Given the description of an element on the screen output the (x, y) to click on. 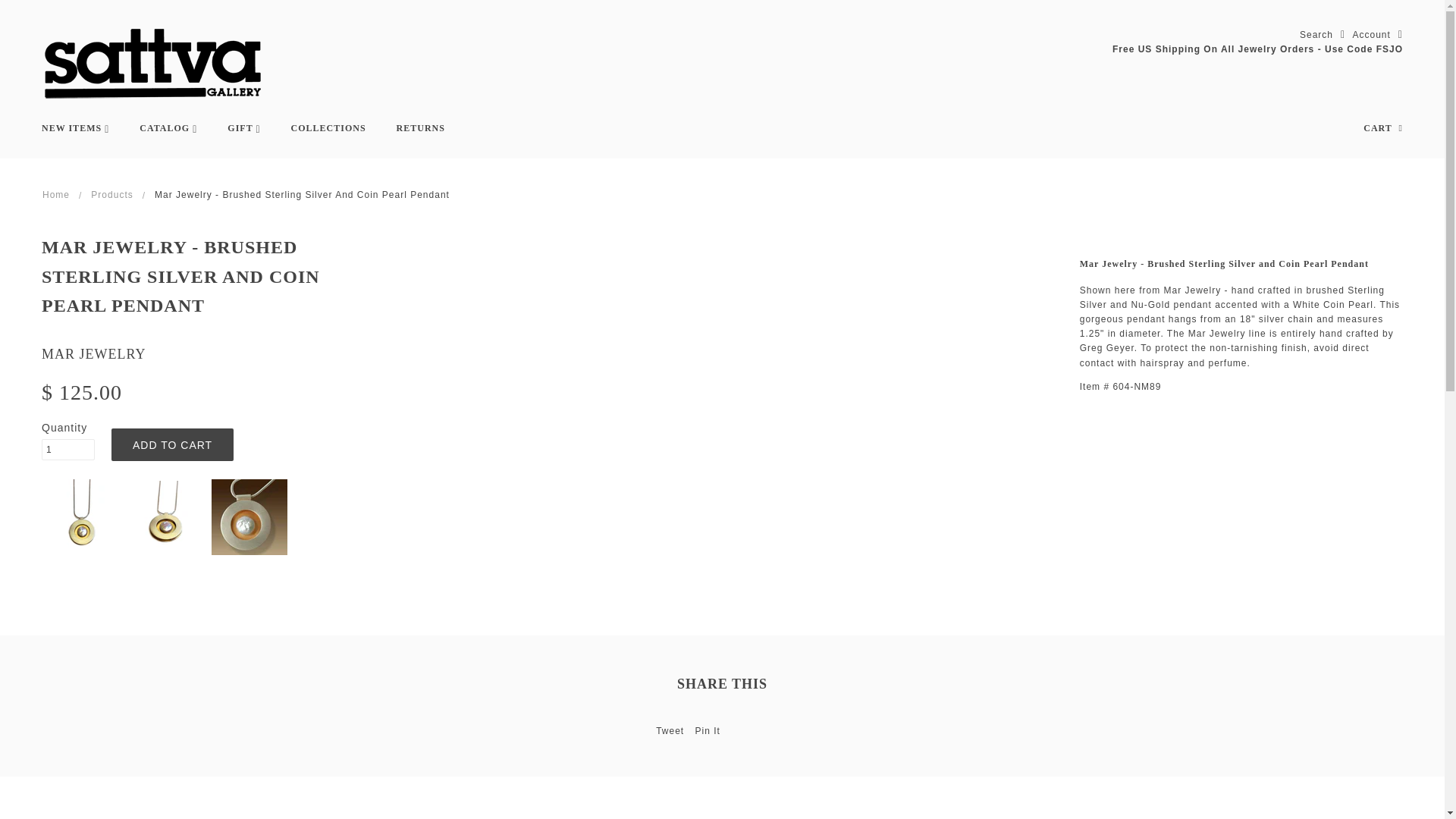
Add to cart (172, 444)
CATALOG (167, 128)
NEW ITEMS (74, 128)
Account (1377, 34)
1 (68, 449)
GIFT (243, 128)
SattvaGallery.com (154, 60)
Search (1322, 34)
